Given the description of an element on the screen output the (x, y) to click on. 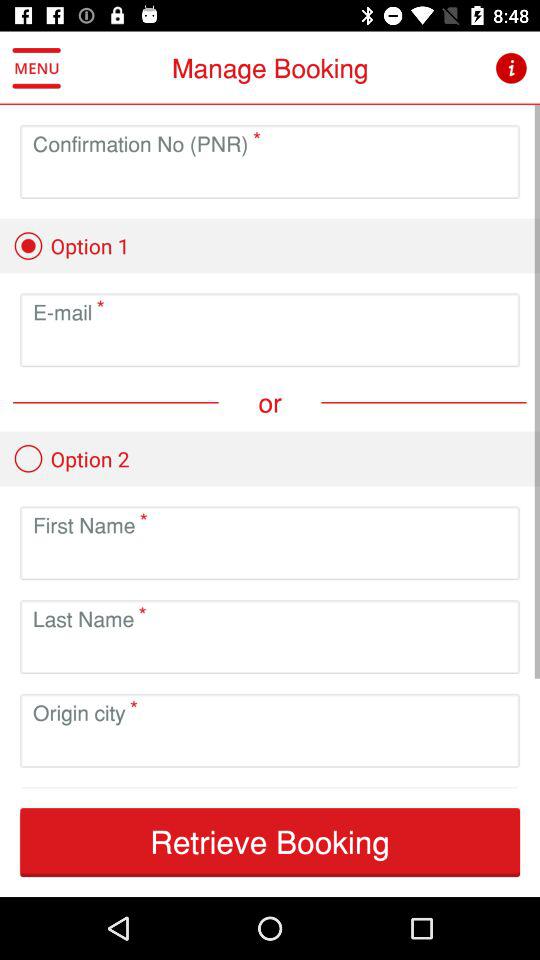
swipe to the option 1 (71, 245)
